Given the description of an element on the screen output the (x, y) to click on. 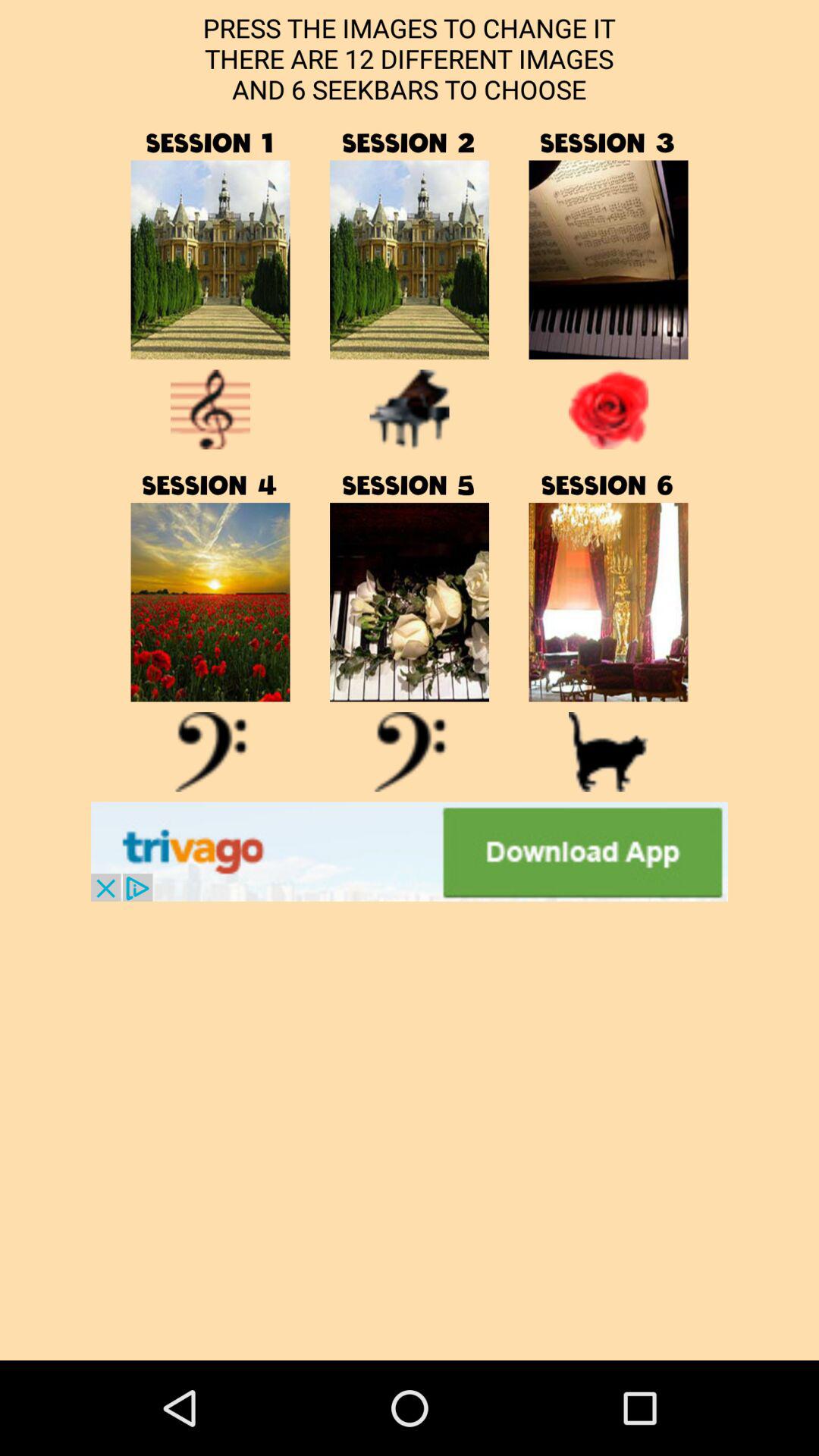
a link to a directory (608, 601)
